Given the description of an element on the screen output the (x, y) to click on. 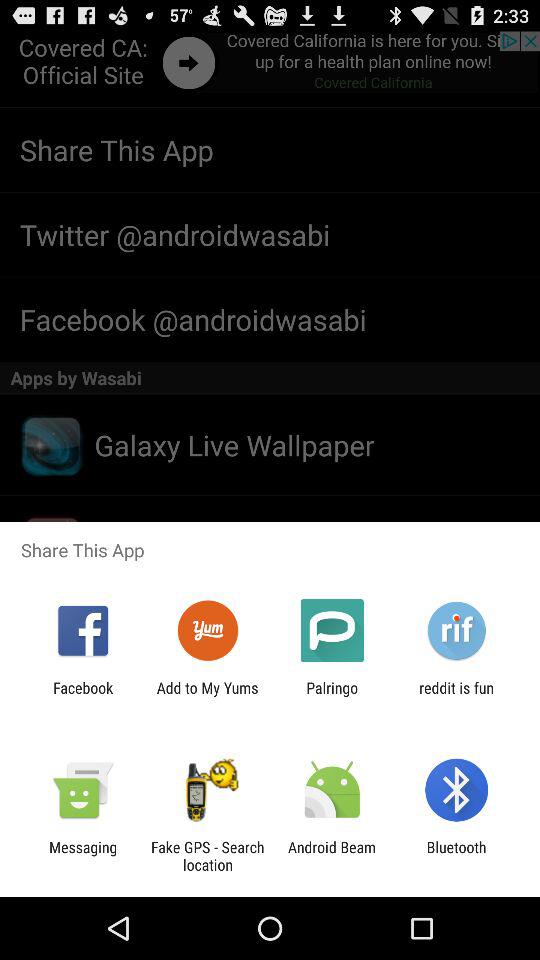
click the icon next to the palringo app (456, 696)
